Given the description of an element on the screen output the (x, y) to click on. 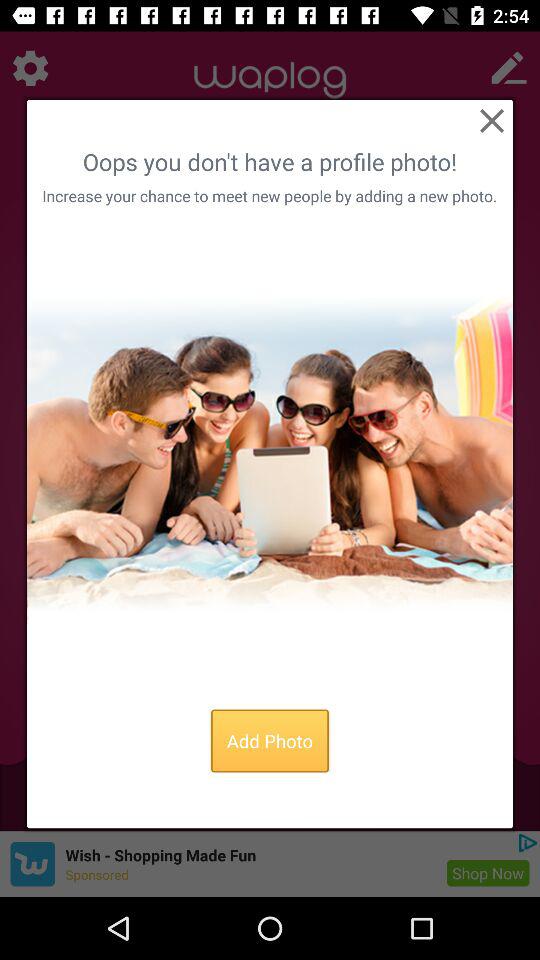
select icon above add photo item (269, 453)
